Given the description of an element on the screen output the (x, y) to click on. 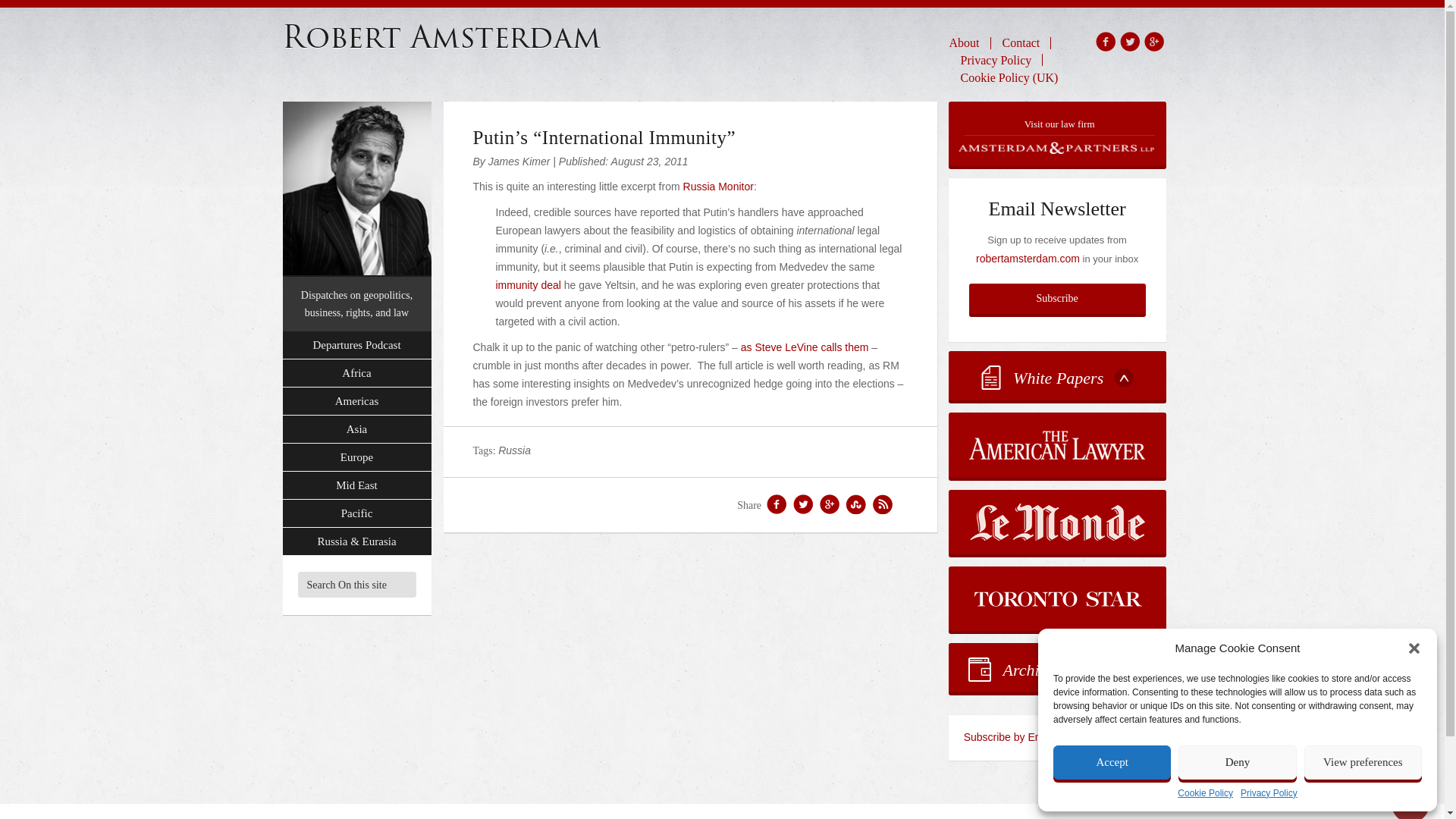
Asia (356, 429)
Pacific (356, 513)
Russia (514, 450)
immunity deal (528, 285)
Privacy Policy (1268, 793)
About (970, 42)
Mid East (356, 485)
Americas (356, 401)
Russia Monitor (718, 186)
Deny (1236, 762)
Privacy Policy (996, 59)
Europe (356, 457)
View preferences (1363, 762)
as Steve LeVine calls them (805, 346)
Departures Podcast (356, 345)
